Given the description of an element on the screen output the (x, y) to click on. 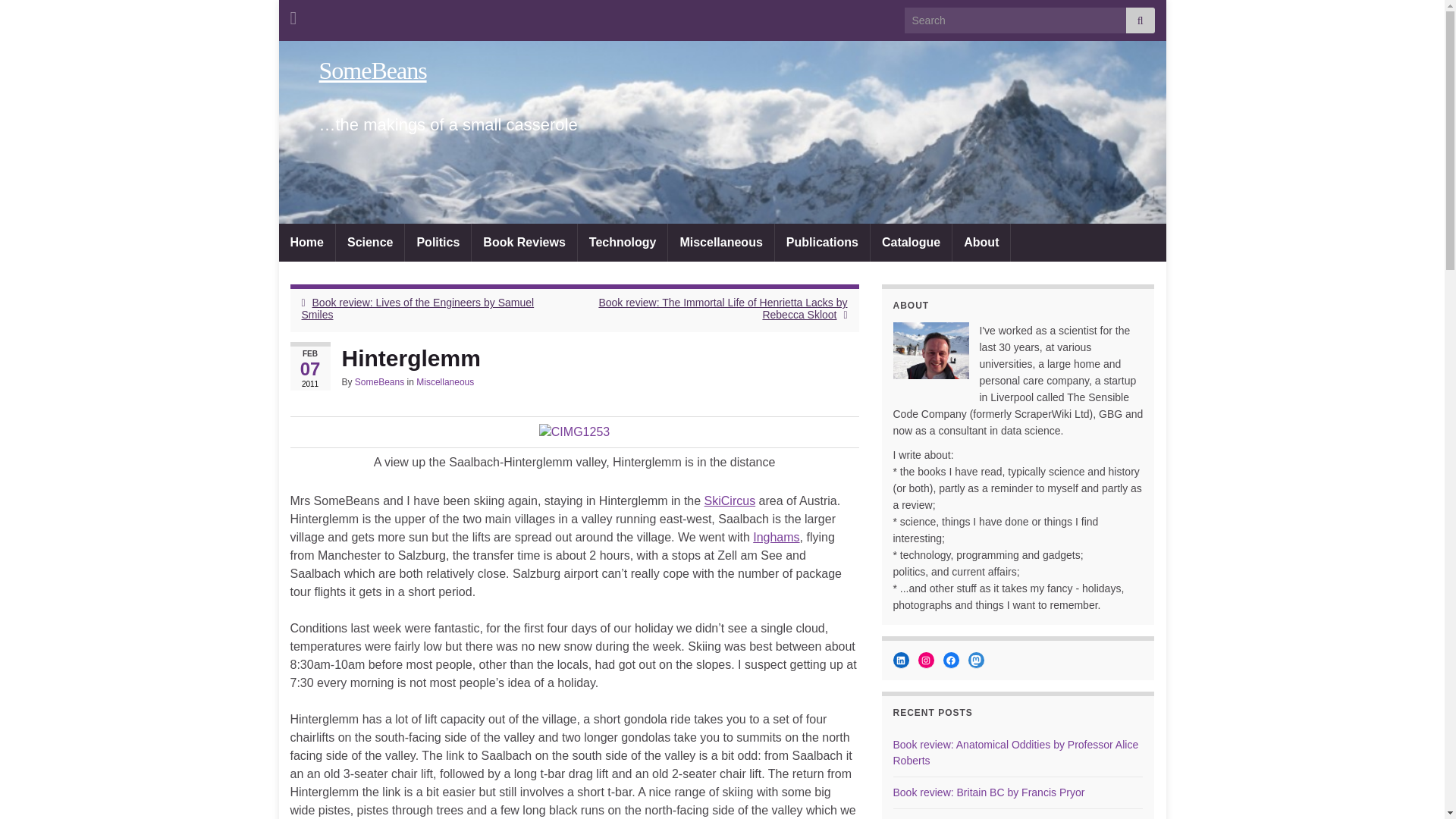
Science (370, 242)
Go back to the front page (372, 70)
Publications (821, 242)
Politics (437, 242)
About (981, 242)
CIMG1253 (574, 432)
SkiCircus (729, 500)
Catalogue (911, 242)
Miscellaneous (720, 242)
